Given the description of an element on the screen output the (x, y) to click on. 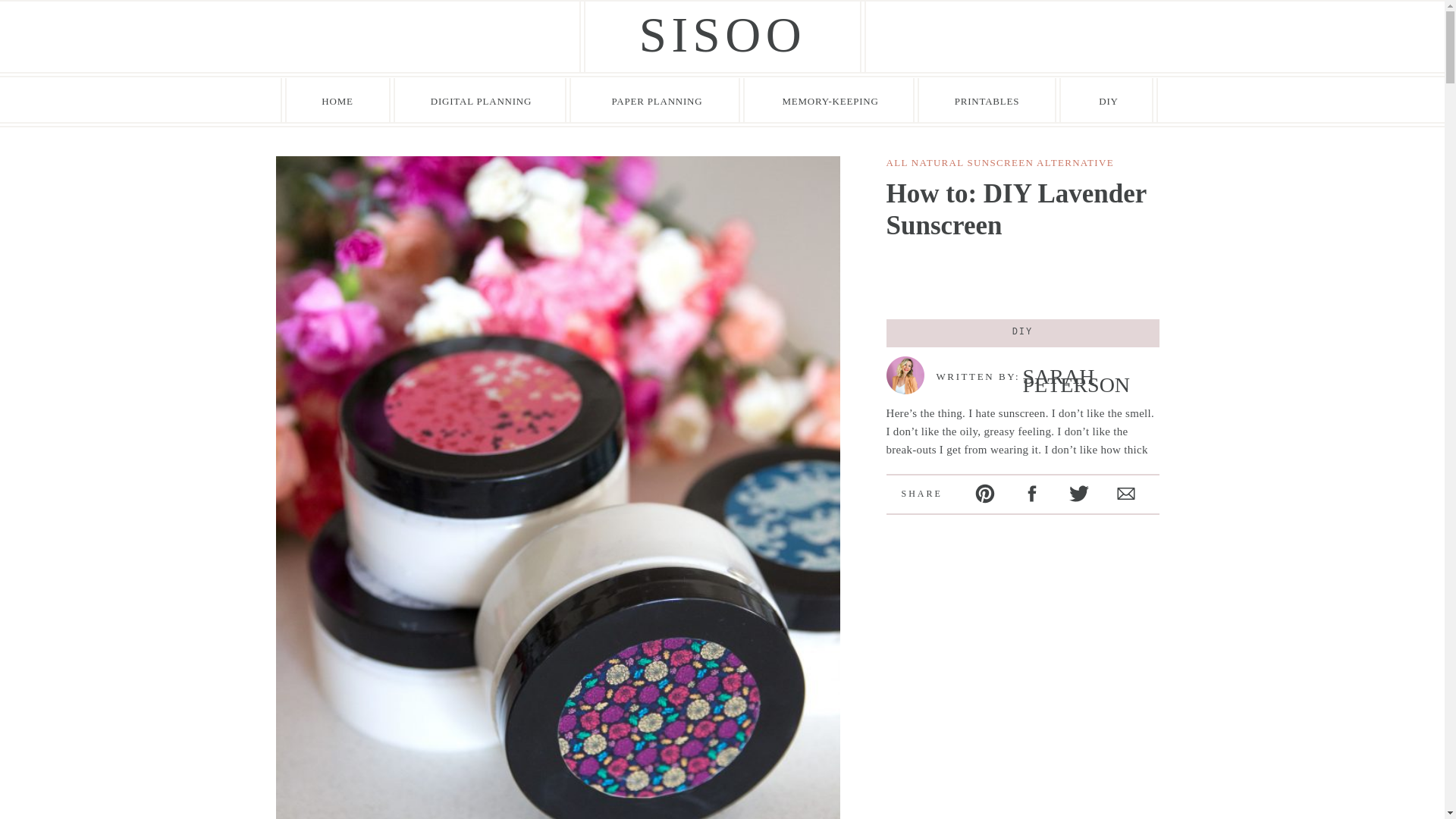
PAPER PLANNING (656, 99)
SISOO (721, 36)
PRINTABLES (986, 99)
HOME (337, 99)
ALL NATURAL SUNSCREEN ALTERNATIVE (999, 162)
DIY (1109, 99)
DIGITAL PLANNING (480, 99)
DIY (1022, 331)
MEMORY-KEEPING (830, 99)
